Given the description of an element on the screen output the (x, y) to click on. 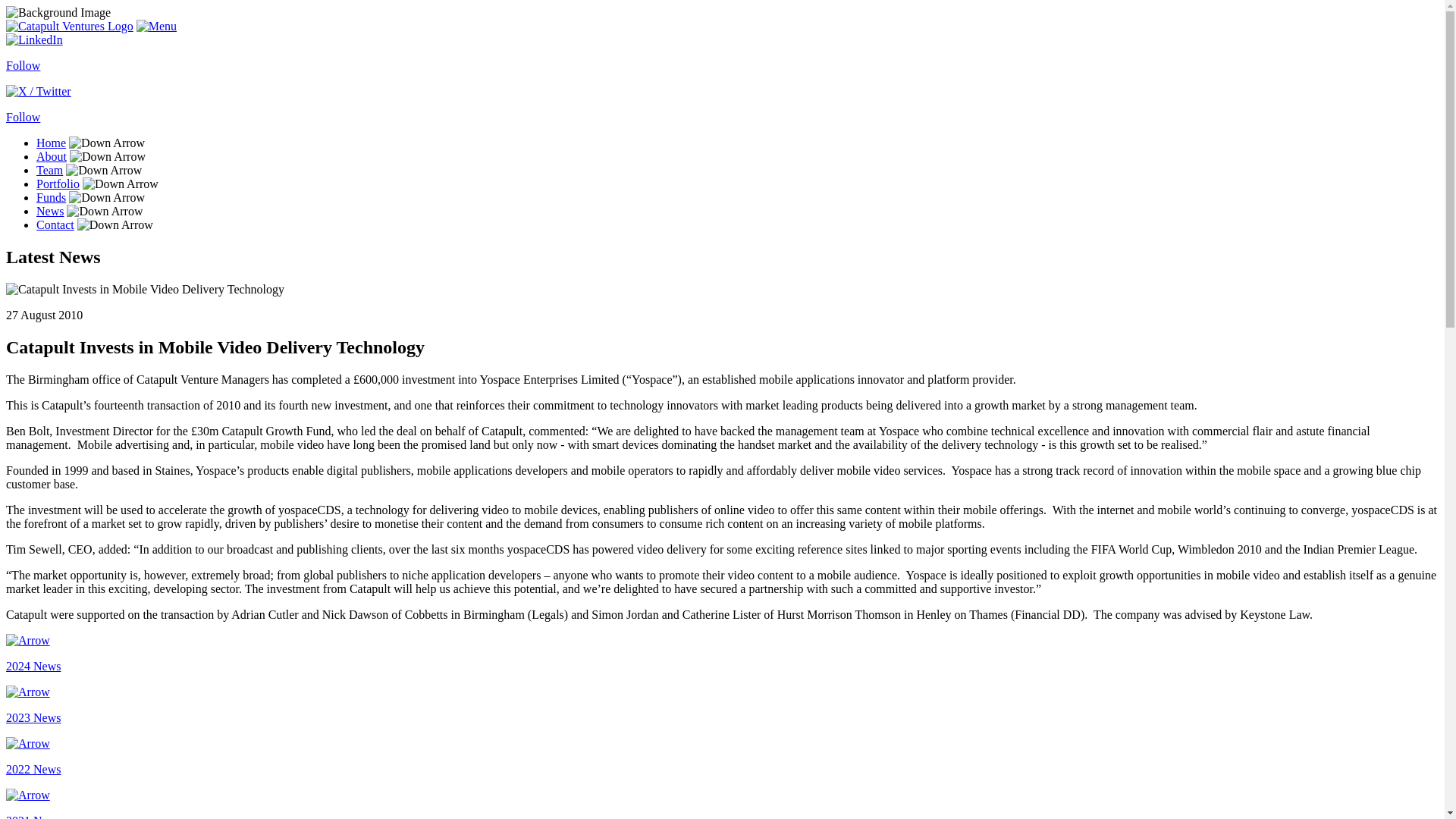
Home (50, 142)
About (51, 155)
Team (49, 169)
Contact (55, 224)
Portfolio (58, 183)
Funds (50, 196)
News (50, 210)
